Given the description of an element on the screen output the (x, y) to click on. 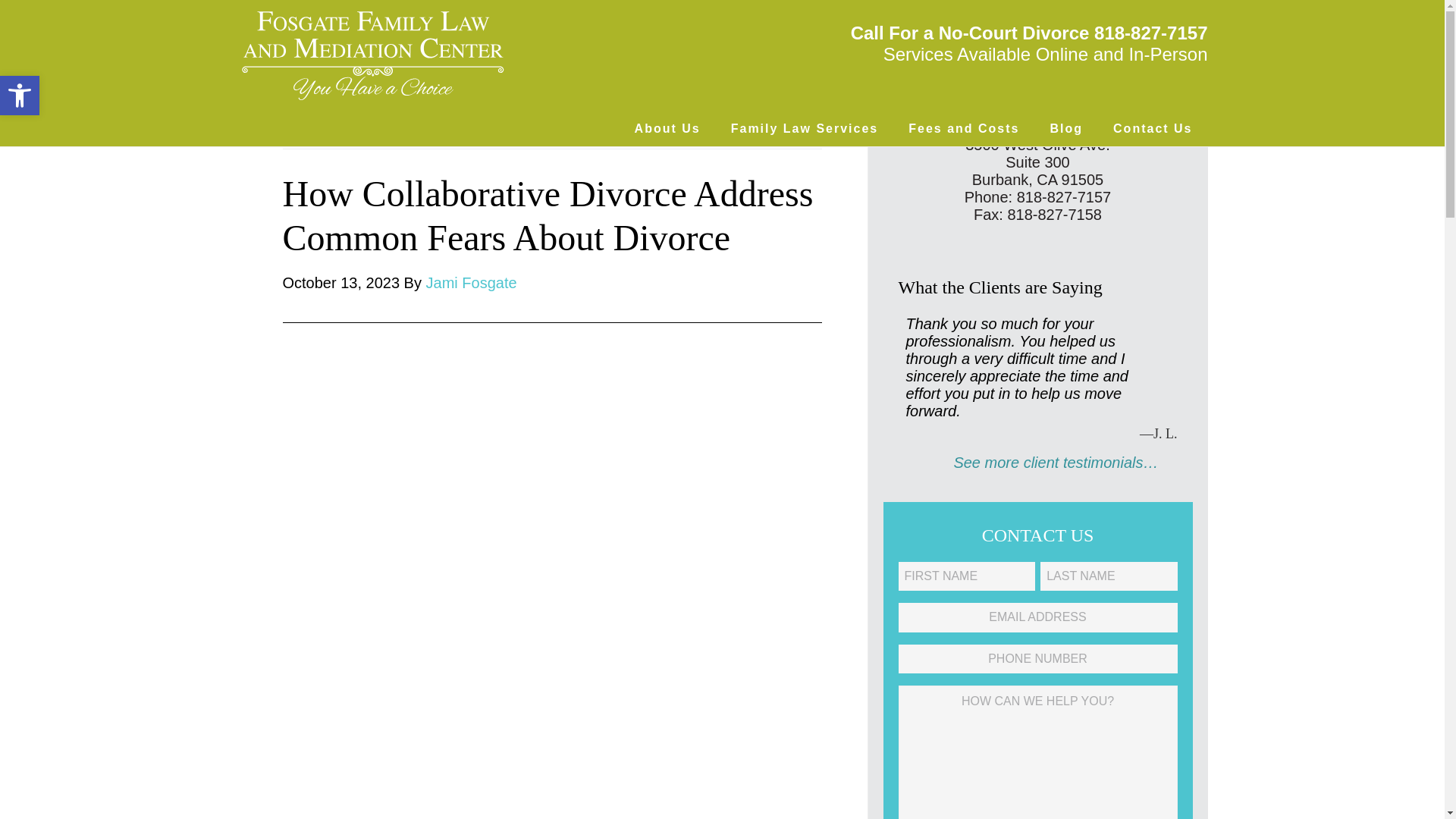
Client Testimonials (1031, 462)
Family Law Services (804, 128)
About Us (668, 128)
Blog (1065, 128)
J. L. (1037, 434)
Accessibility Tools (19, 95)
Fees and Costs (963, 128)
Accessibility Tools (19, 95)
